Given the description of an element on the screen output the (x, y) to click on. 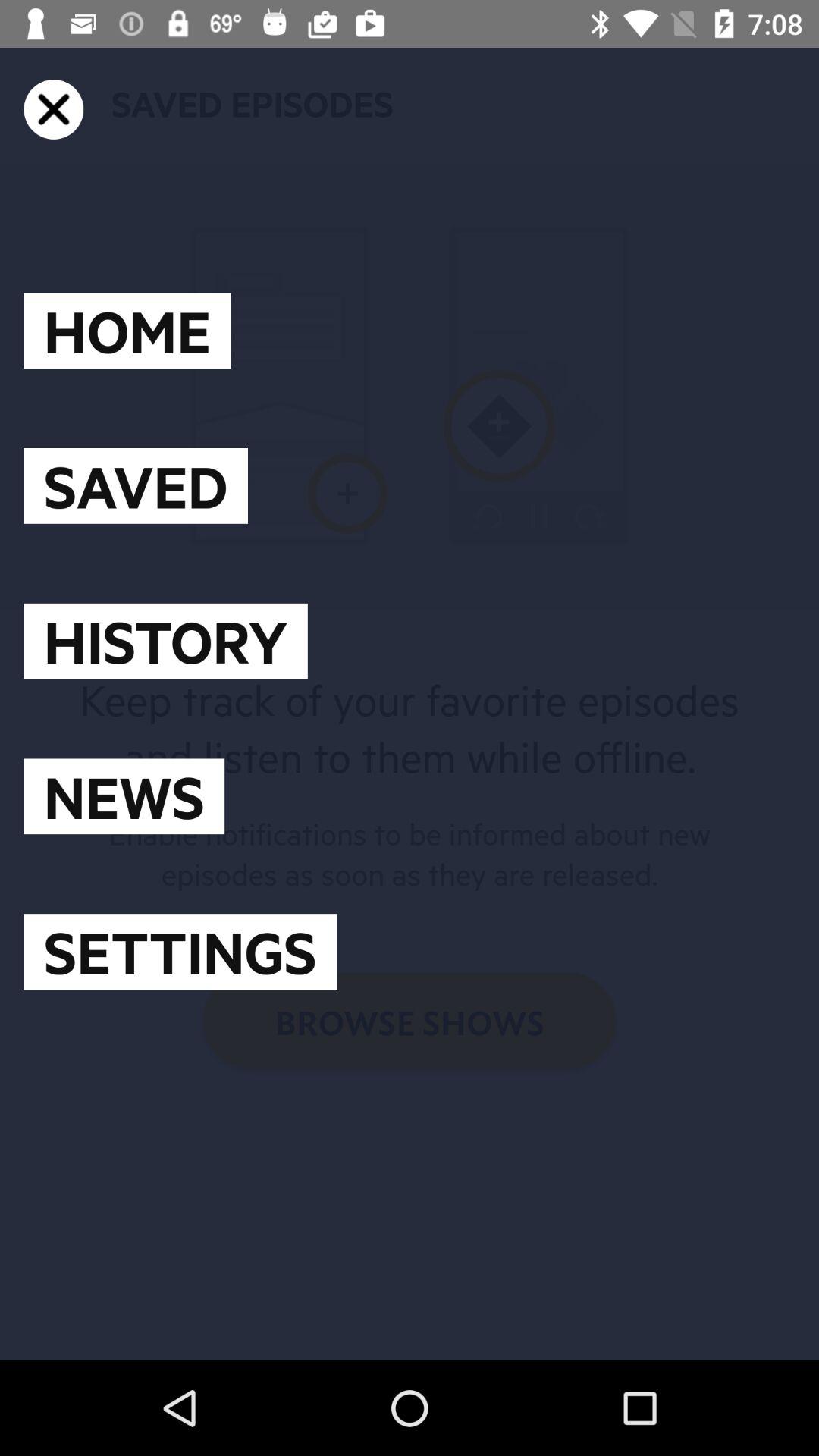
open item above news item (165, 641)
